Given the description of an element on the screen output the (x, y) to click on. 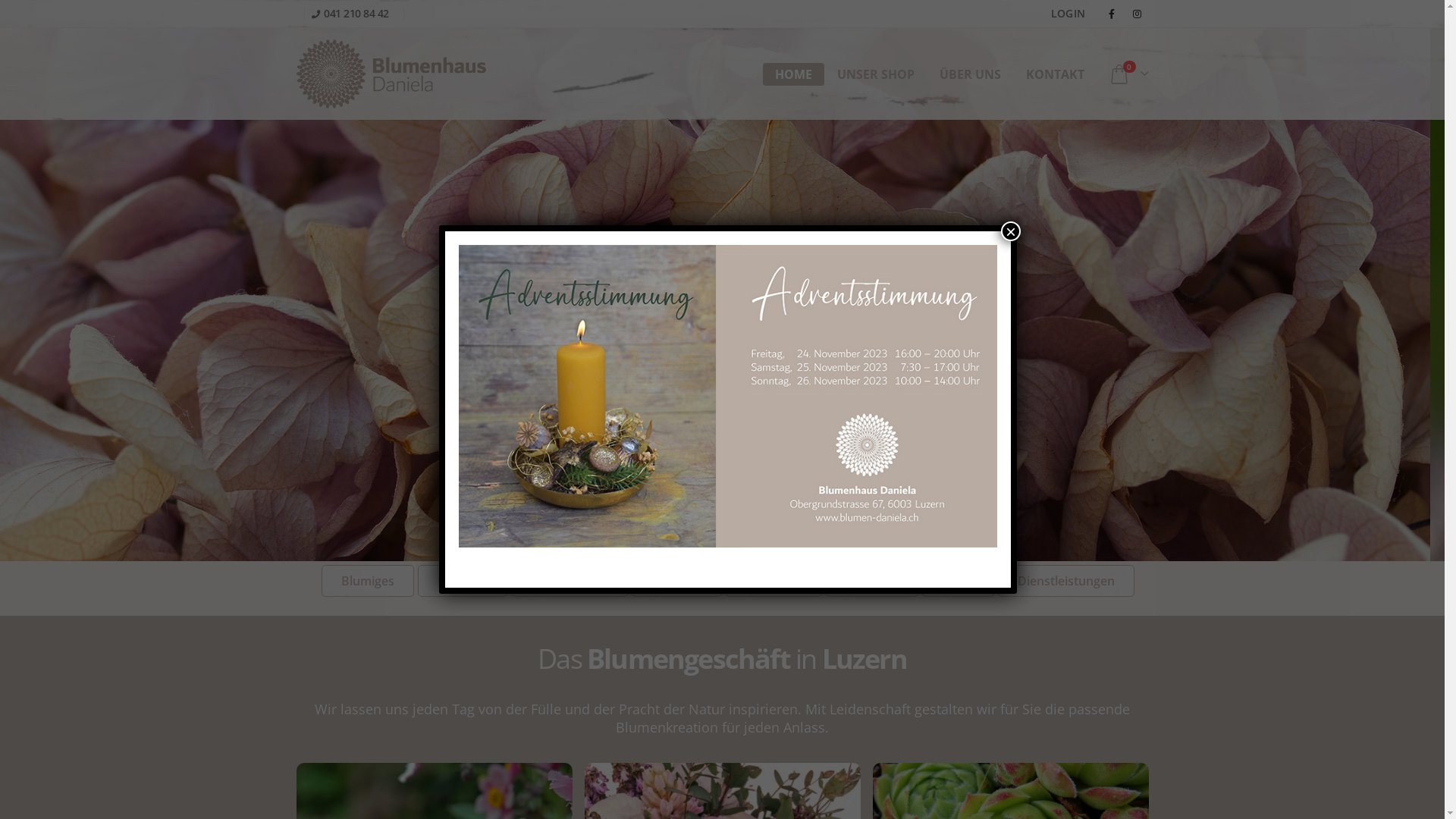
Blumiges Element type: text (367, 580)
Pflanzen Element type: text (462, 580)
Facebook Element type: hover (1111, 13)
Dienstleistungen Element type: text (1065, 580)
Festliches Element type: text (773, 580)
Hochzeit Element type: text (676, 580)
adivento Element type: hover (727, 395)
Event Element type: text (958, 580)
UNSER SHOP Element type: text (875, 73)
Instagram Element type: hover (1137, 13)
KONTAKT Element type: text (1054, 73)
HOME Element type: text (793, 73)
Abschied Element type: text (871, 580)
Blumen Abos Element type: text (569, 580)
LOGIN Element type: text (1068, 13)
